Given the description of an element on the screen output the (x, y) to click on. 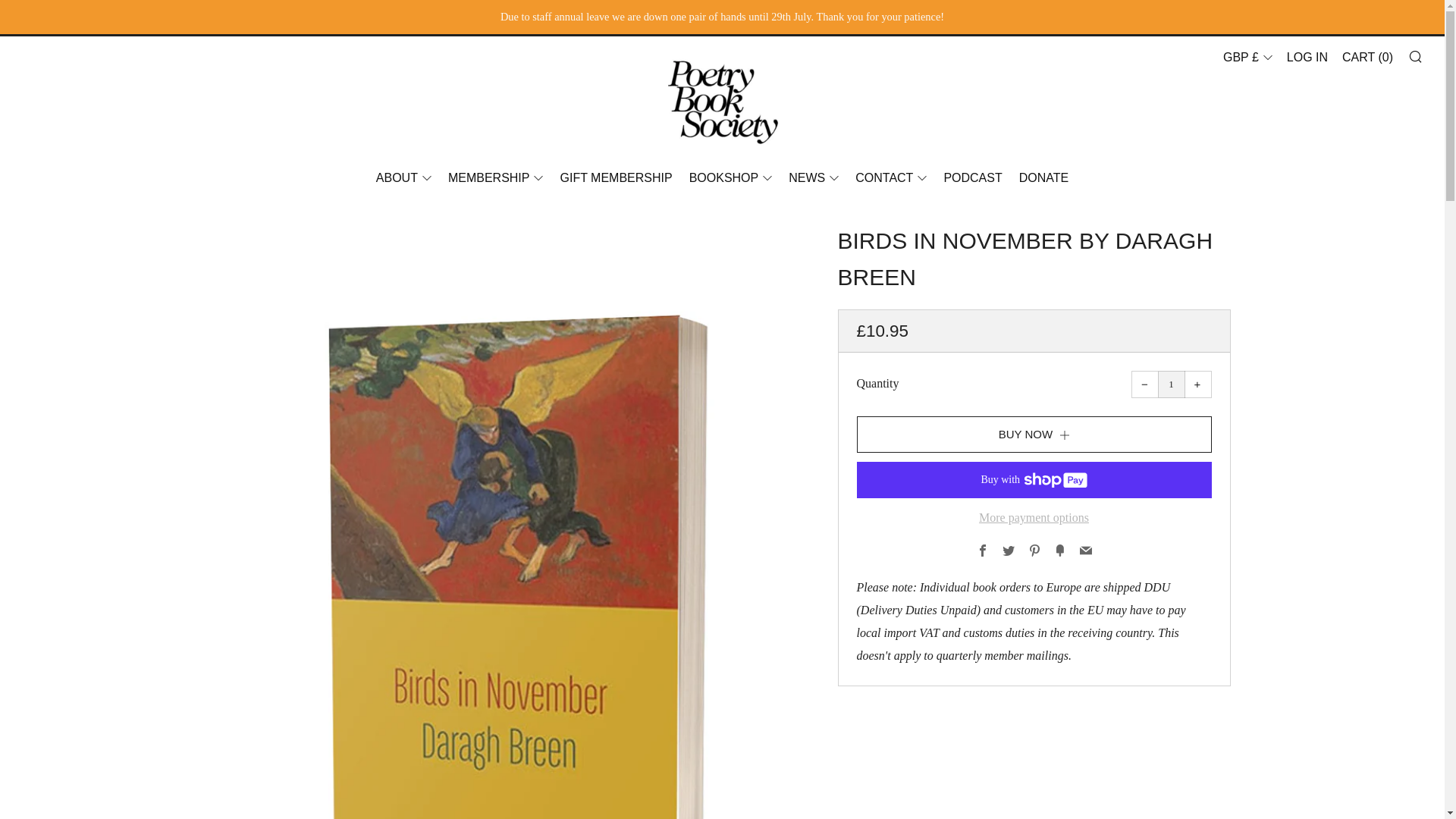
1 (1171, 384)
